Given the description of an element on the screen output the (x, y) to click on. 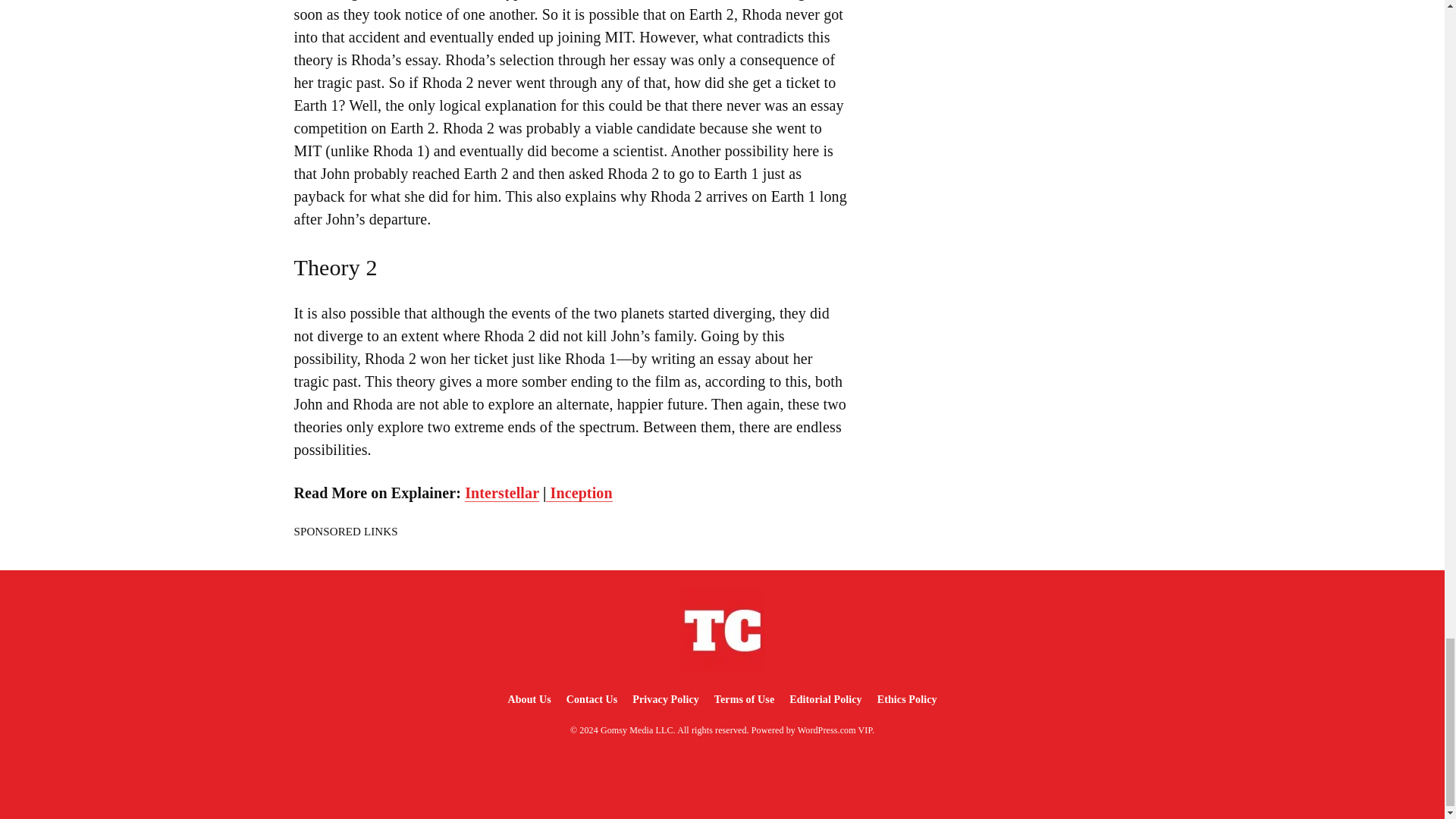
Ethics Policy (906, 699)
Interstellar (501, 493)
WordPress.com VIP (834, 729)
Editorial Policy (825, 699)
Inception (578, 493)
Terms of Use (743, 699)
Contact Us (592, 699)
Privacy Policy (665, 699)
About Us (528, 699)
